Given the description of an element on the screen output the (x, y) to click on. 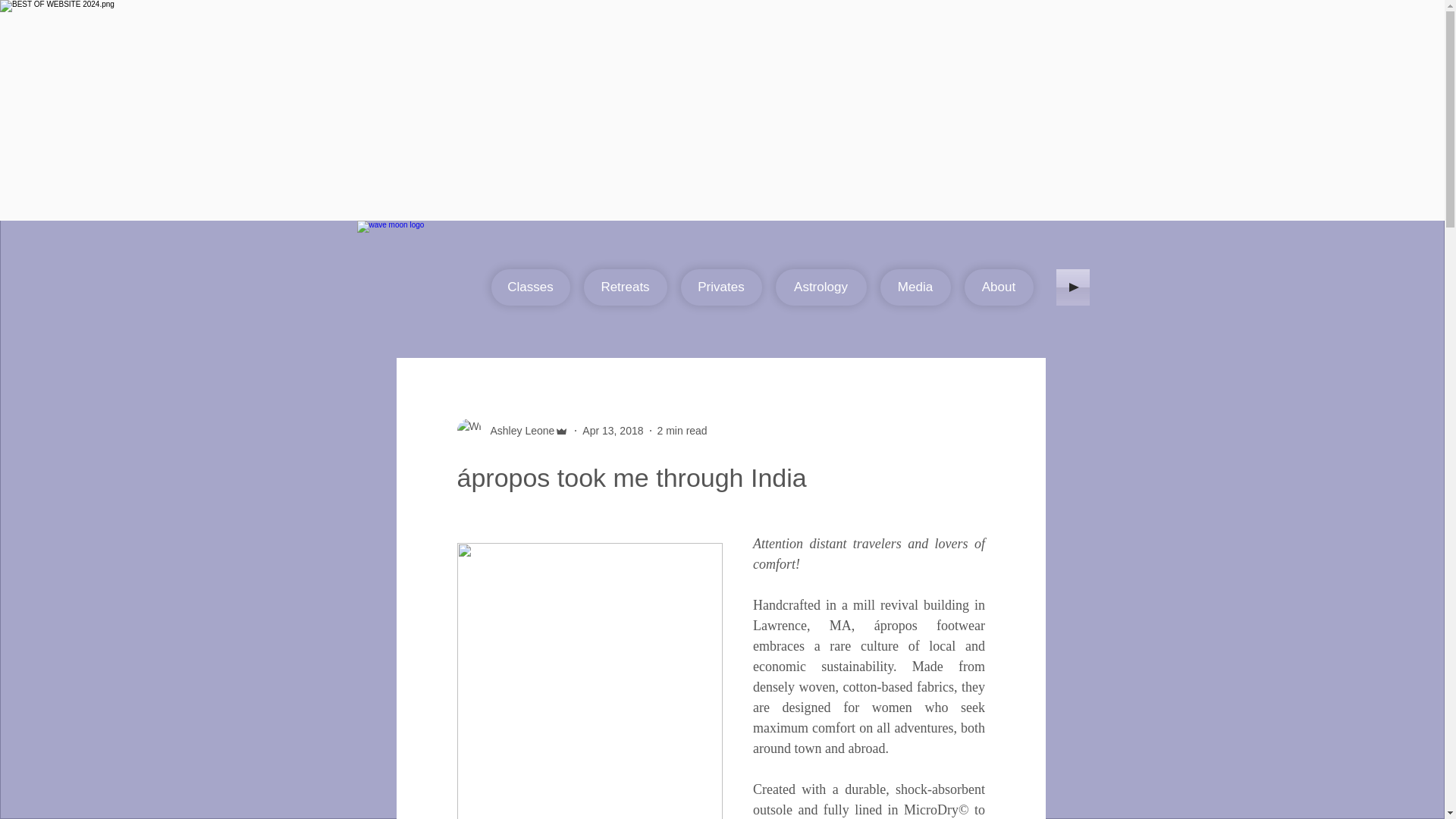
Ashley Leone (517, 430)
Apr 13, 2018 (612, 430)
Ashley Leone (513, 430)
2 min read (682, 430)
